Given the description of an element on the screen output the (x, y) to click on. 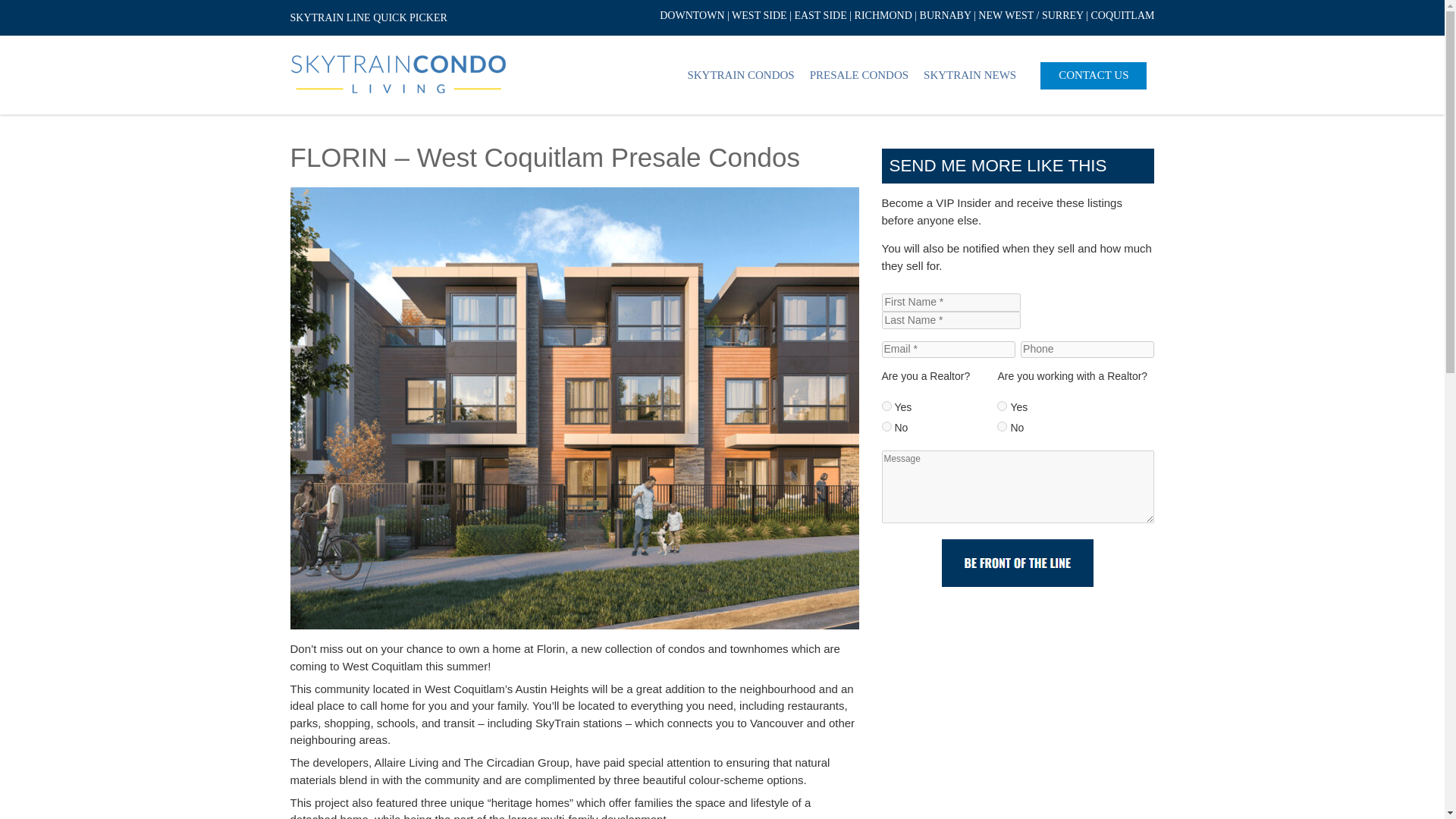
No (1002, 426)
SkyTrain Condo Living (398, 74)
COQUITLAM (1122, 15)
BURNABY (945, 15)
SKYTRAIN CONDOS (740, 75)
WEST SIDE (759, 15)
SKYTRAIN NEWS (969, 75)
Yes (1002, 406)
PRESALE CONDOS (858, 75)
SKYTRAIN LINE QUICK PICKER (367, 18)
